Given the description of an element on the screen output the (x, y) to click on. 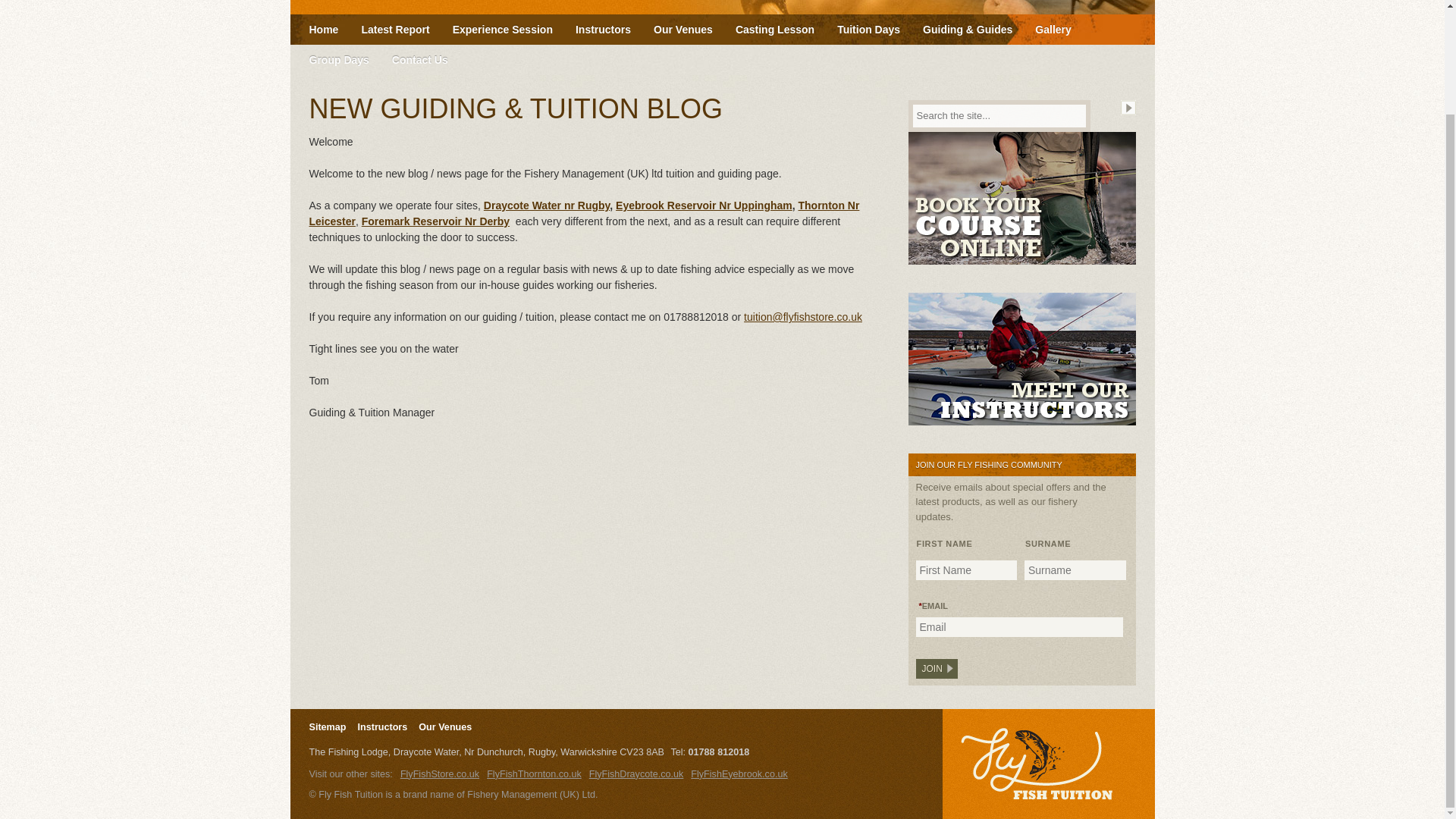
Tuition Days (868, 29)
Draycote Water nr Rugby (546, 205)
Experience Session (502, 29)
FlyFishEyebrook.co.uk (738, 774)
Sitemap (327, 726)
Instructors (382, 726)
Home (323, 29)
Our Venues (682, 29)
Casting Lesson (774, 29)
Contact Us (420, 60)
Visit Fly Fish Draycote (738, 774)
Telephone (677, 751)
Search (1128, 107)
Join (936, 668)
